Given the description of an element on the screen output the (x, y) to click on. 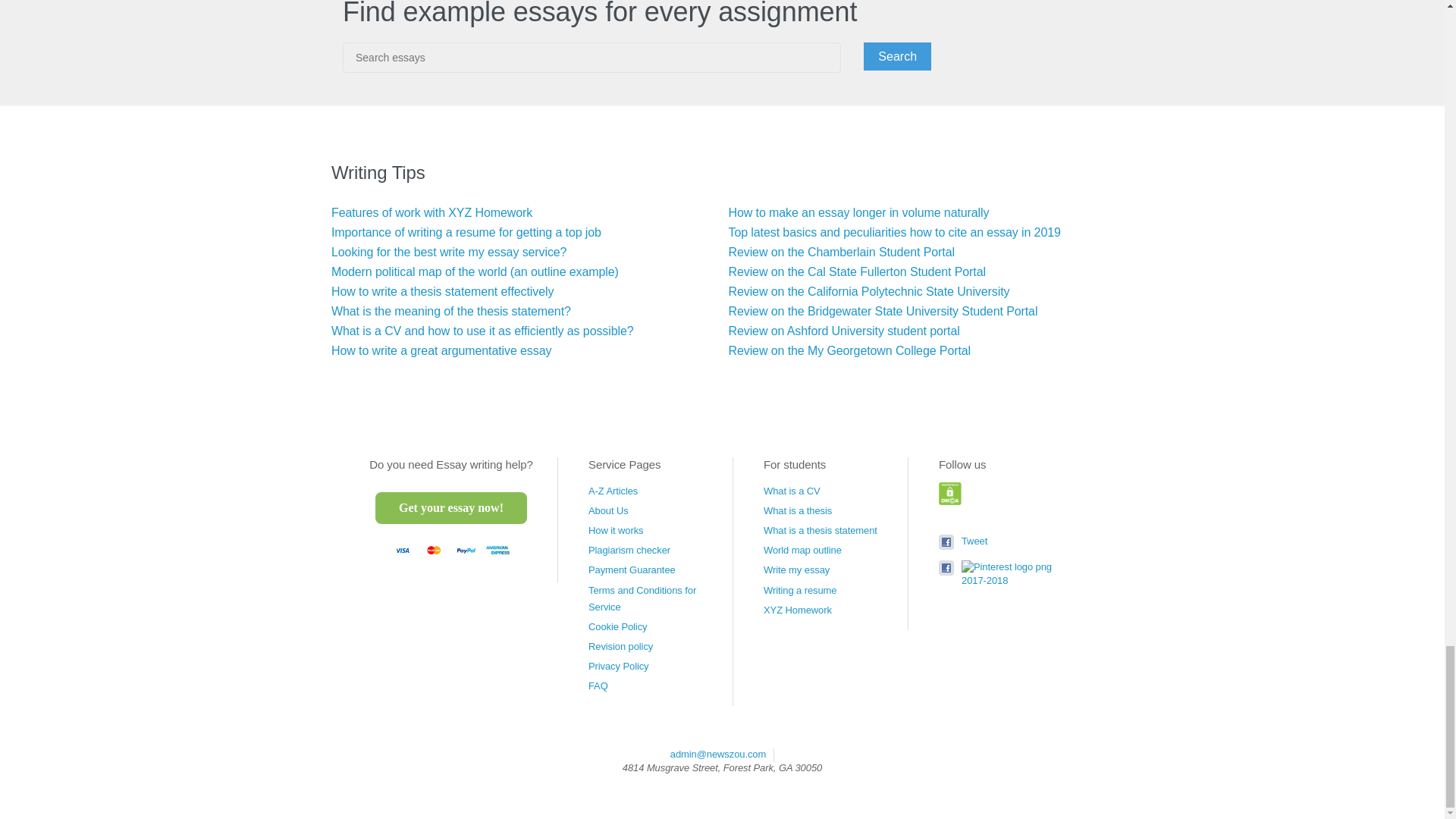
DMCA.com Protection Status (951, 502)
